Given the description of an element on the screen output the (x, y) to click on. 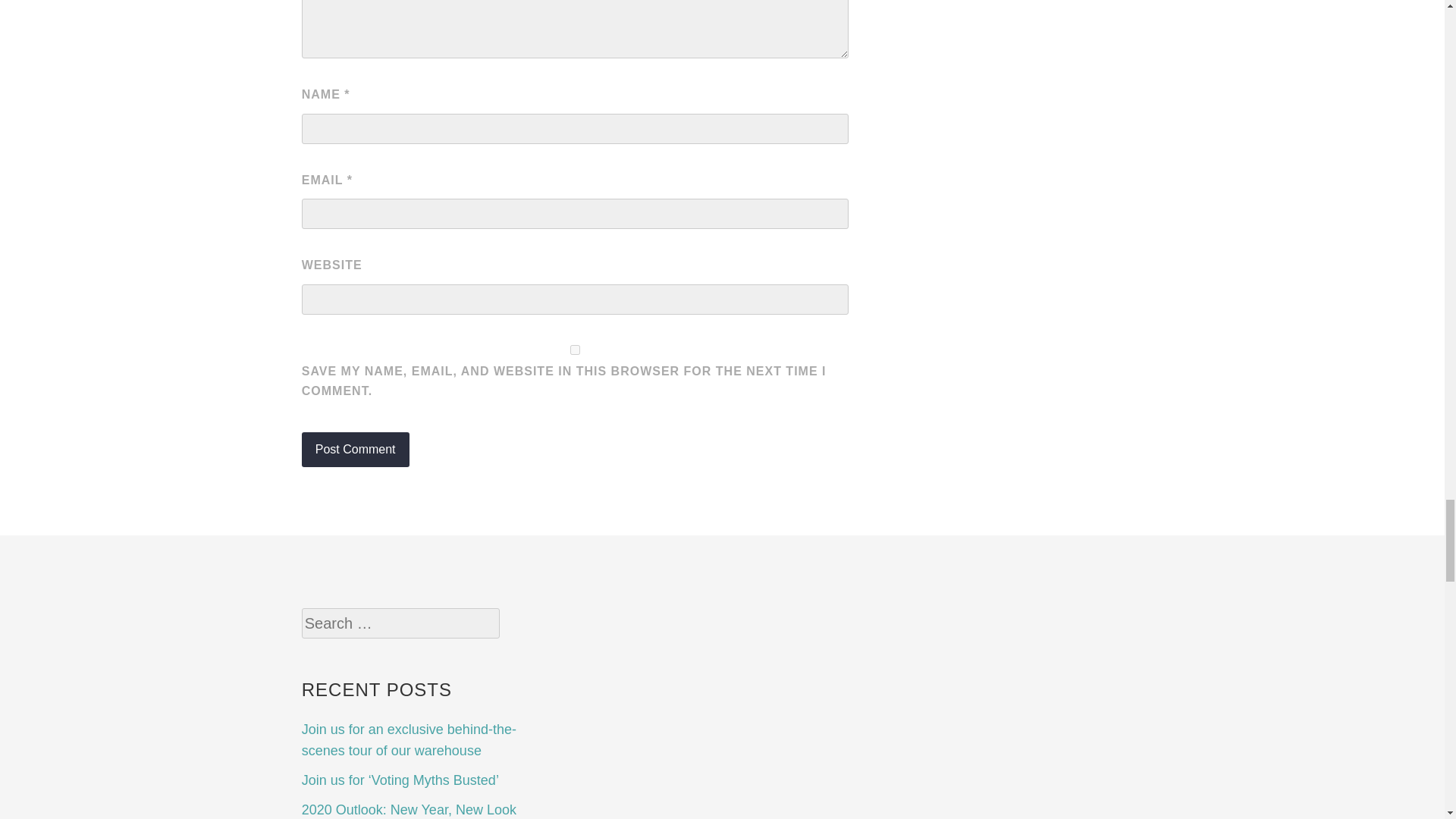
yes (574, 349)
Post Comment (355, 449)
Post Comment (355, 449)
